Given the description of an element on the screen output the (x, y) to click on. 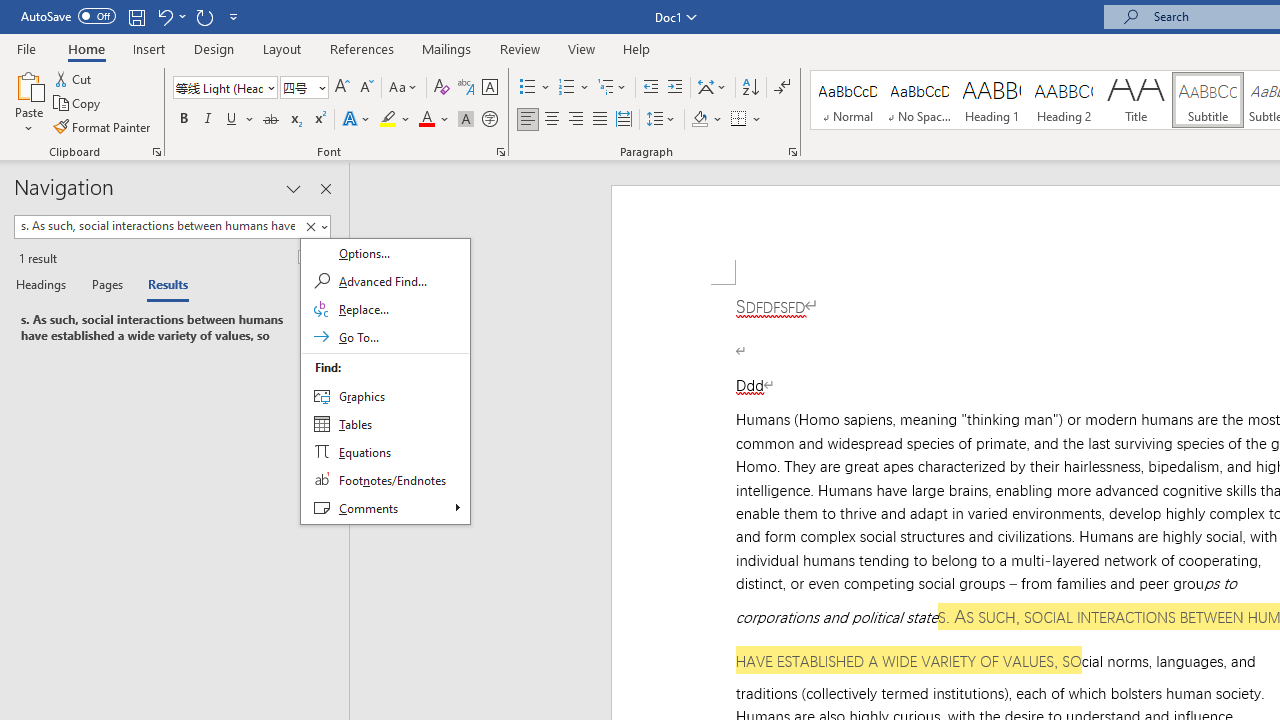
Text Highlight Color Yellow (388, 119)
Increase Indent (675, 87)
Enclose Characters... (489, 119)
Undo Style (170, 15)
Repeat Style (204, 15)
Title (1135, 100)
Bold (183, 119)
Search document (157, 226)
